Given the description of an element on the screen output the (x, y) to click on. 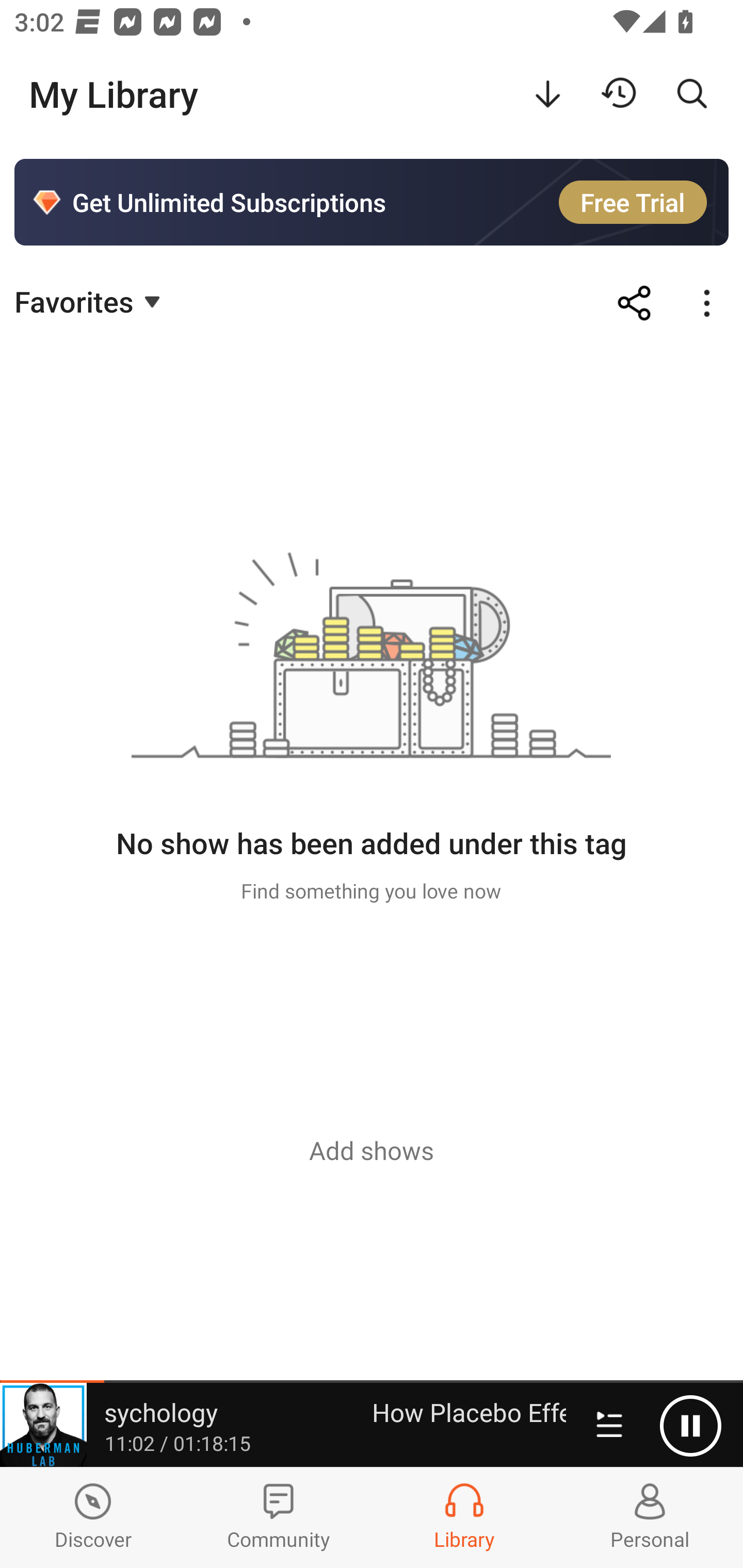
Get Unlimited Subscriptions Free Trial (371, 202)
Free Trial (632, 202)
Favorites (90, 300)
Add shows (371, 1150)
Pause (690, 1425)
Discover (92, 1517)
Community (278, 1517)
Library (464, 1517)
Profiles and Settings Personal (650, 1517)
